Given the description of an element on the screen output the (x, y) to click on. 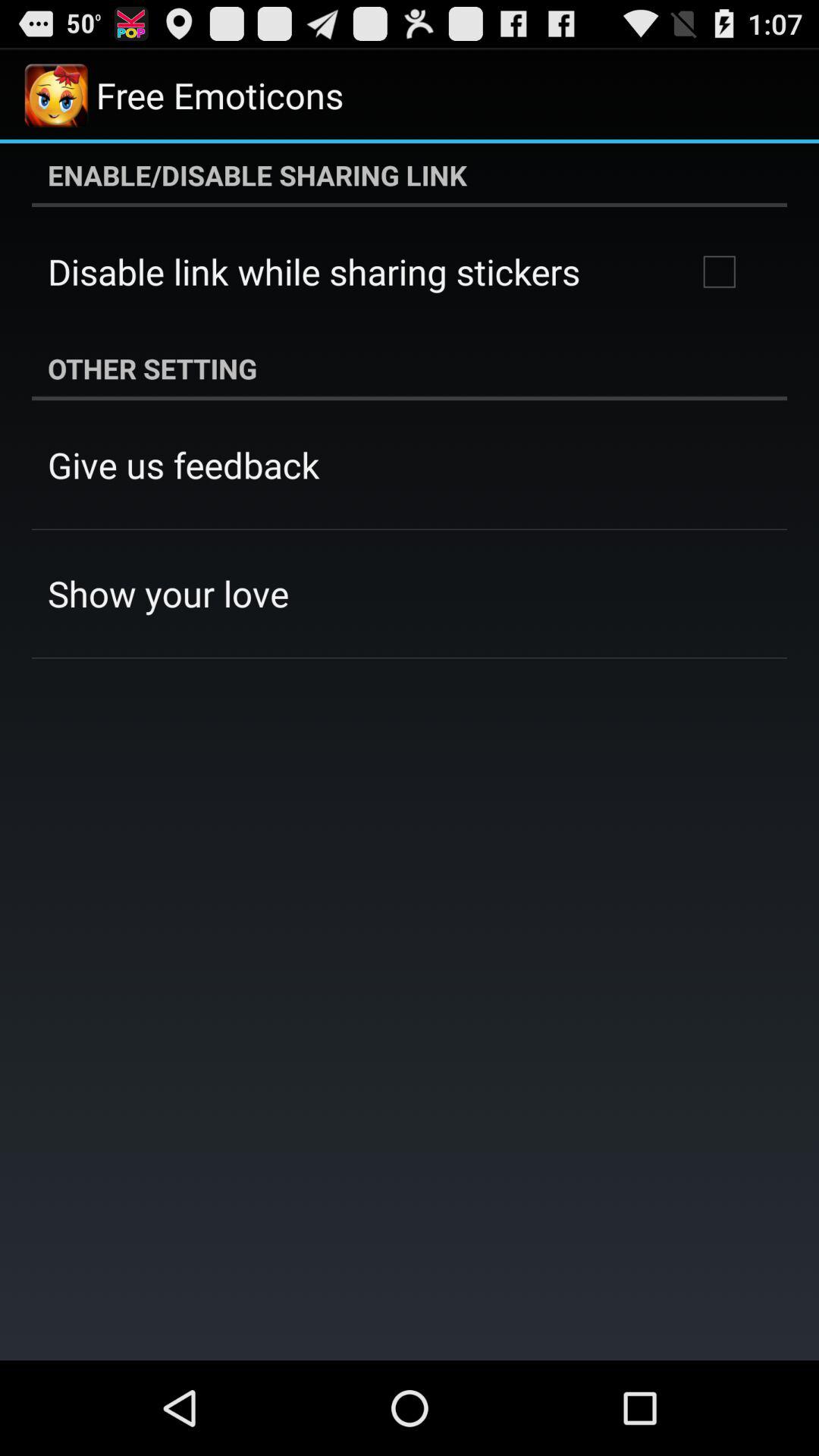
click the icon above the show your love app (183, 464)
